Given the description of an element on the screen output the (x, y) to click on. 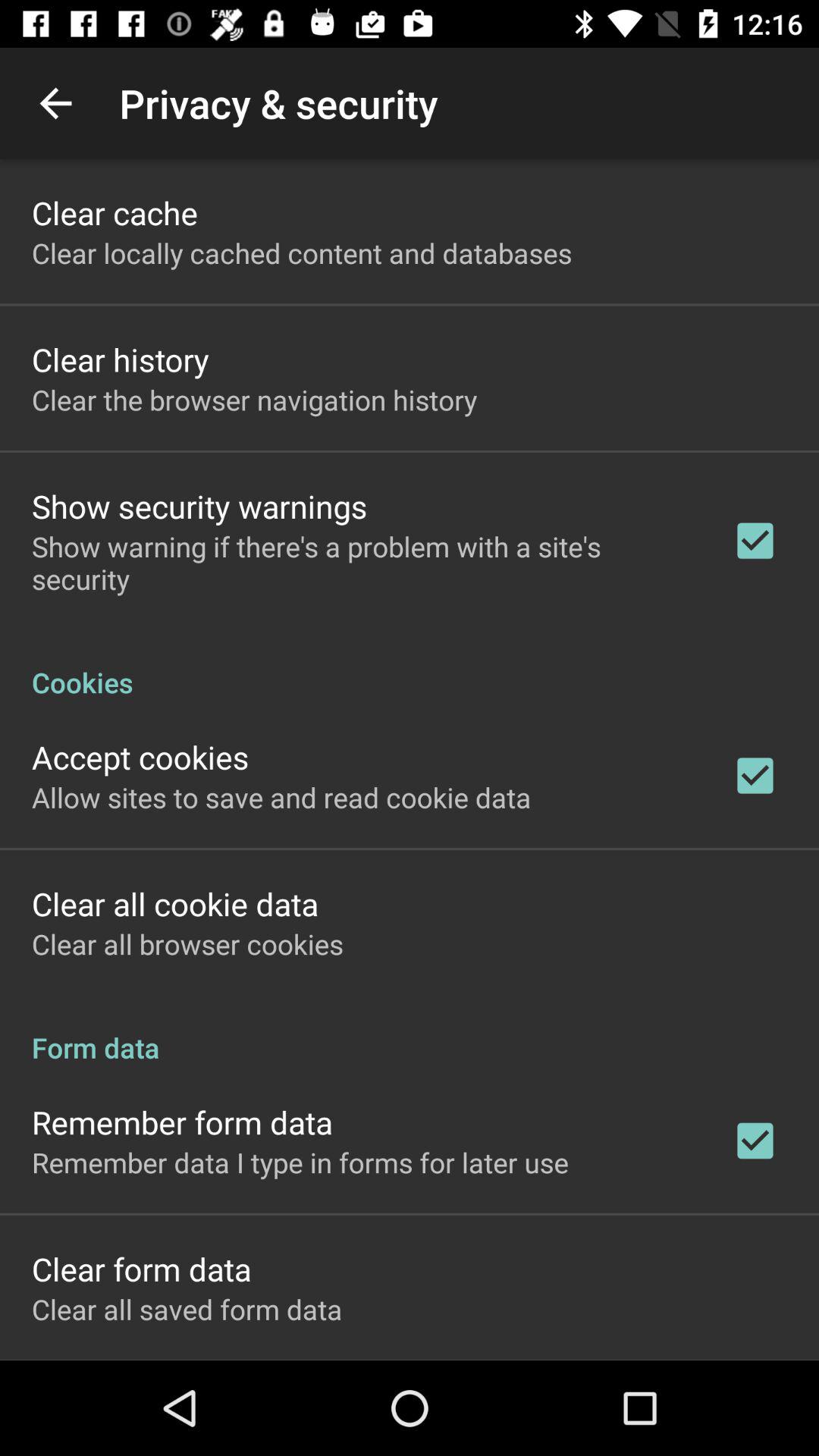
open icon above the clear all cookie item (281, 797)
